Given the description of an element on the screen output the (x, y) to click on. 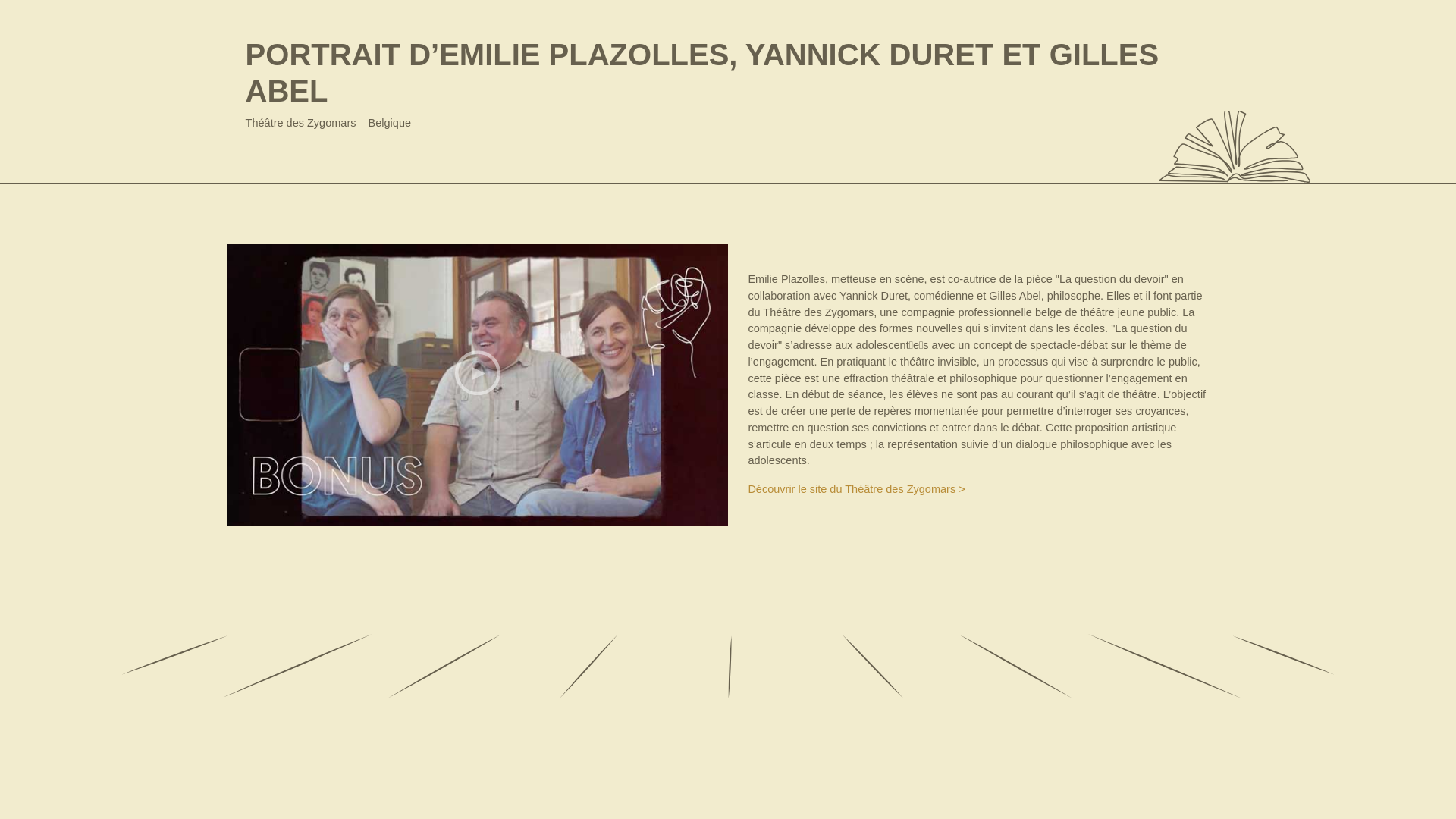
youtube video player Element type: hover (477, 384)
